Given the description of an element on the screen output the (x, y) to click on. 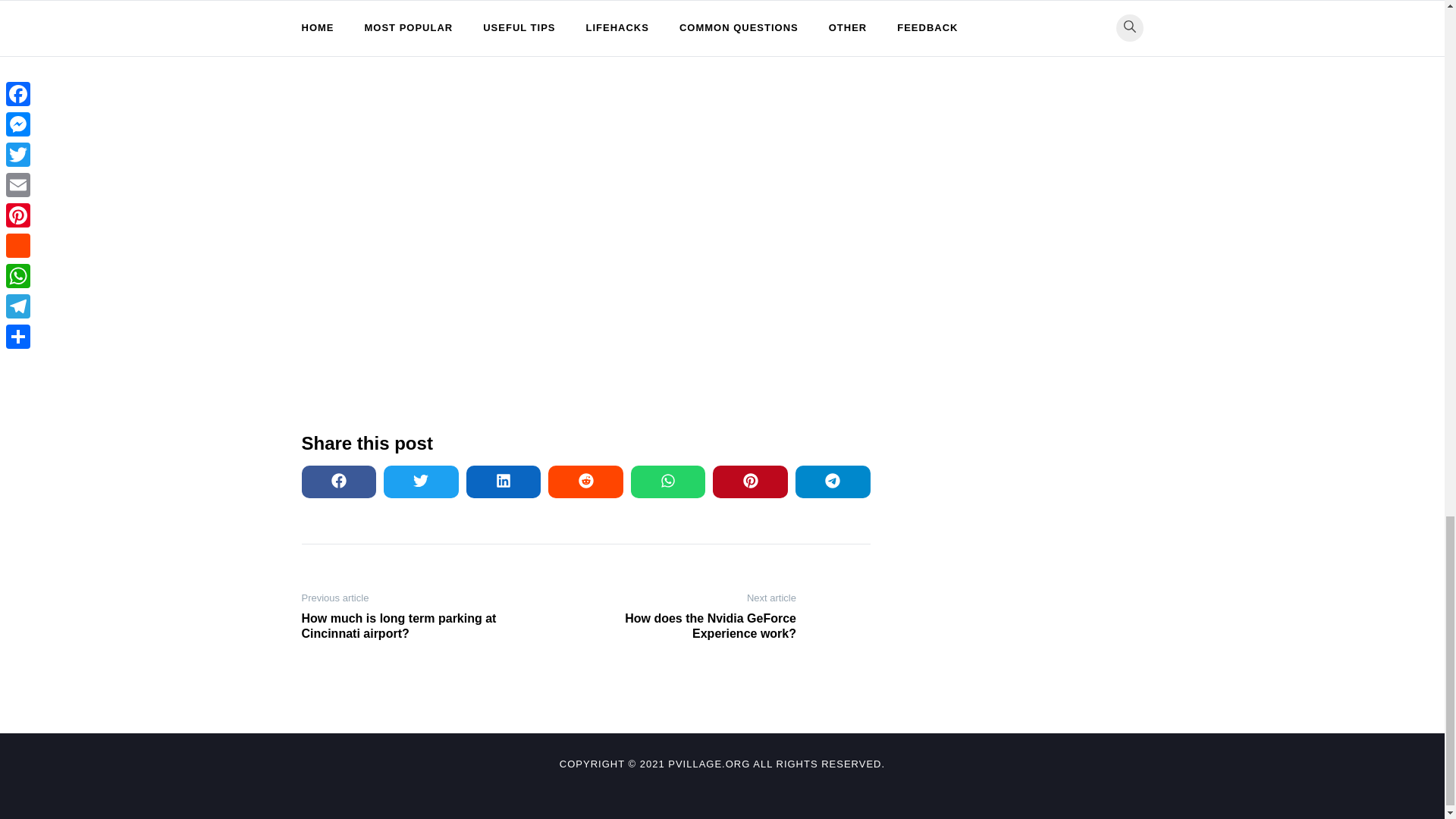
How does the Nvidia GeForce Experience work? (696, 626)
How much is long term parking at Cincinnati airport? (400, 626)
